Given the description of an element on the screen output the (x, y) to click on. 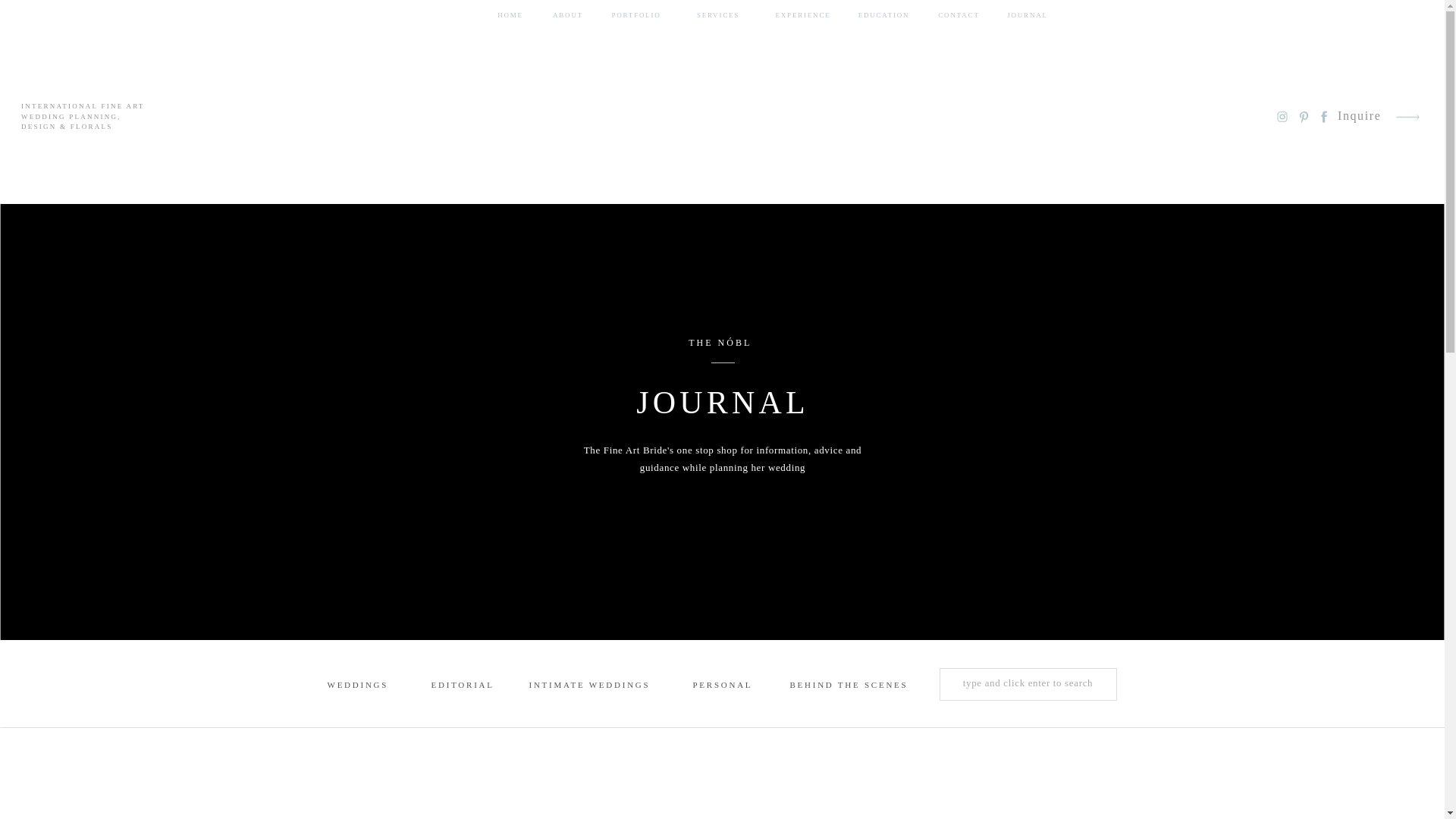
EDITORIAL (461, 686)
ABOUT (567, 15)
INTIMATE WEDDINGS (589, 686)
SERVICES (717, 15)
HOME (510, 15)
EXPERIENCE (801, 15)
arrow (1407, 117)
arrow (1407, 117)
WEDDINGS (357, 686)
JOURNAL (1027, 15)
